Given the description of an element on the screen output the (x, y) to click on. 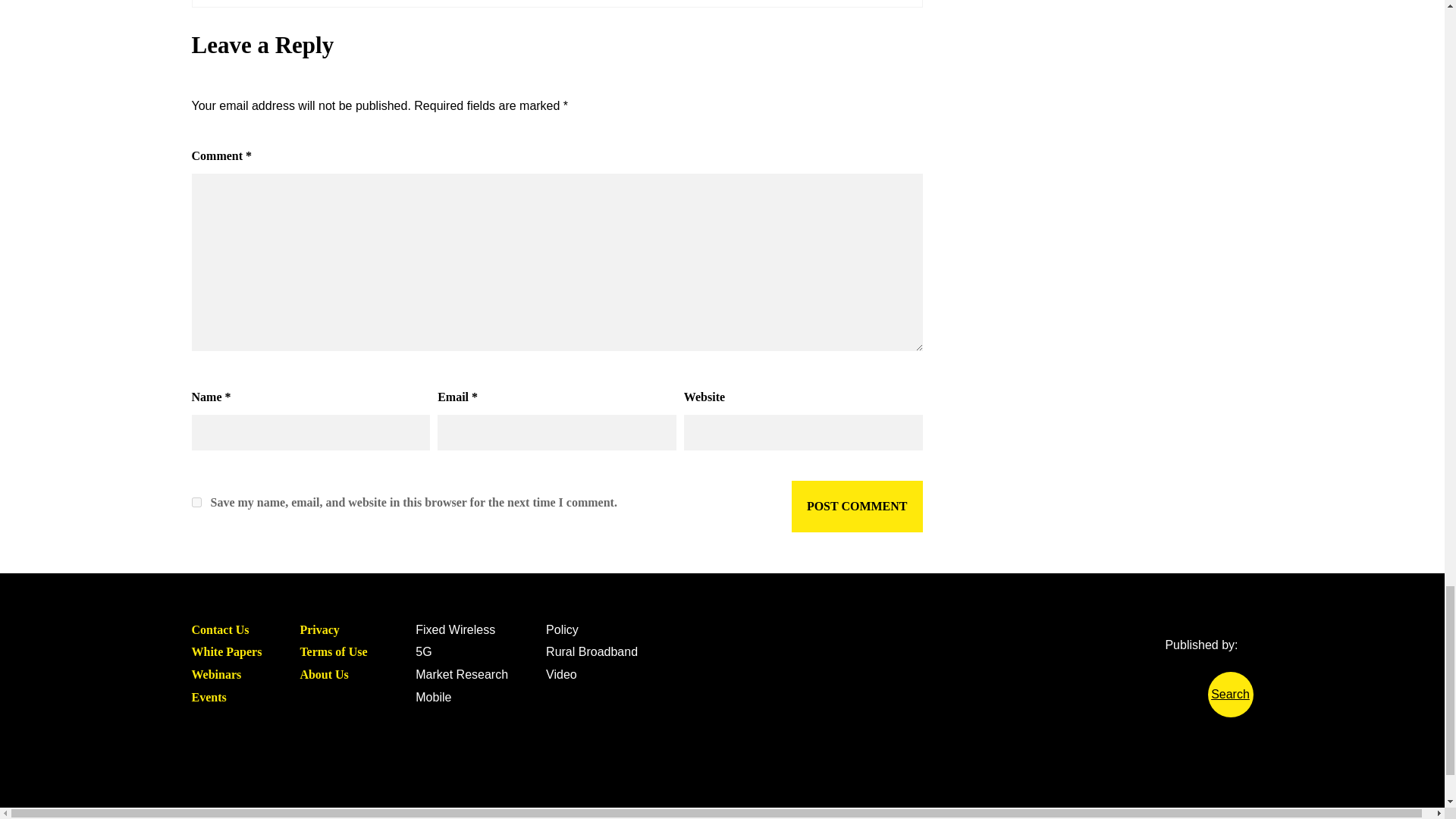
Post Comment (857, 506)
yes (195, 501)
